Given the description of an element on the screen output the (x, y) to click on. 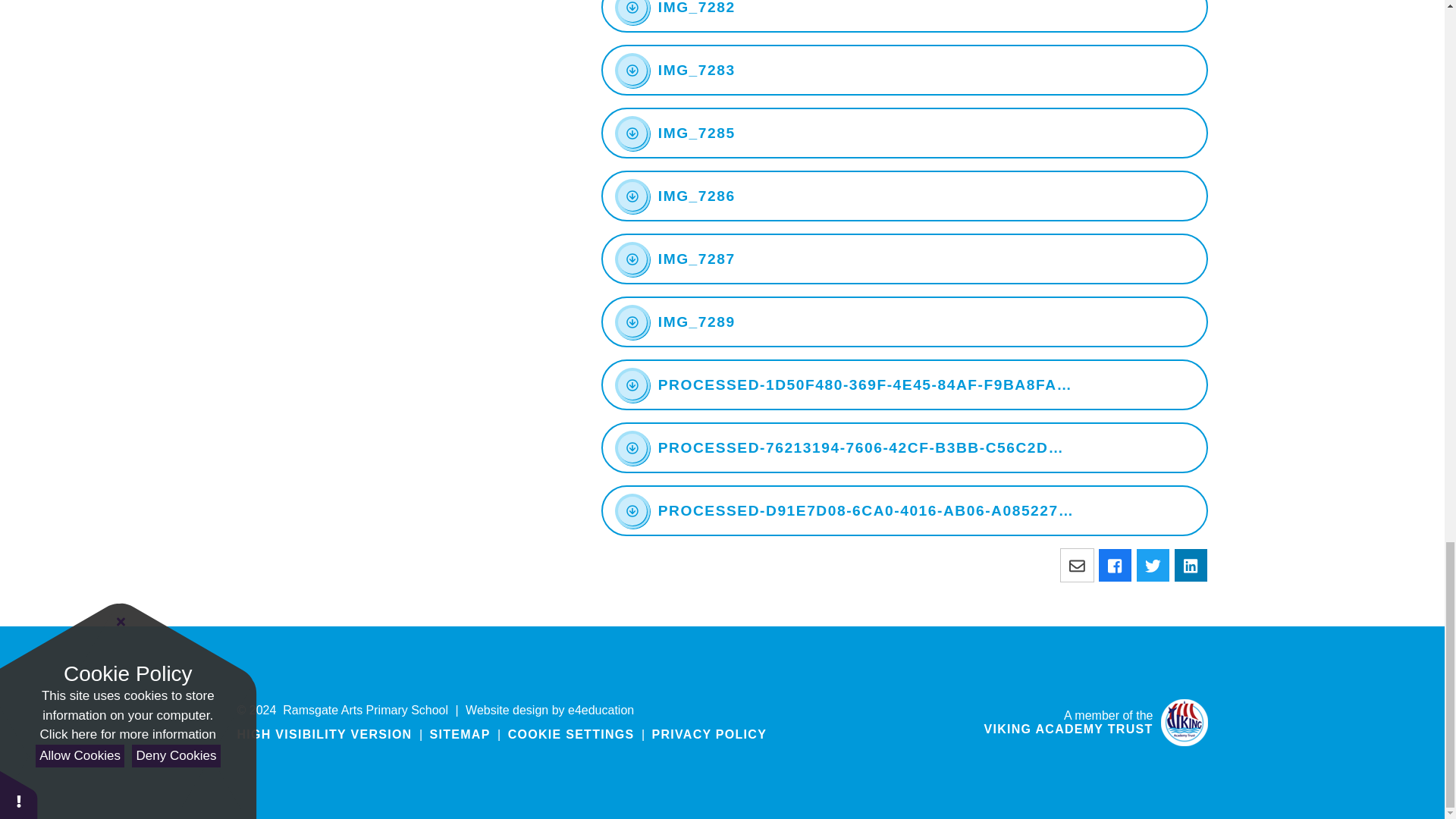
Cookie Settings (571, 734)
